Given the description of an element on the screen output the (x, y) to click on. 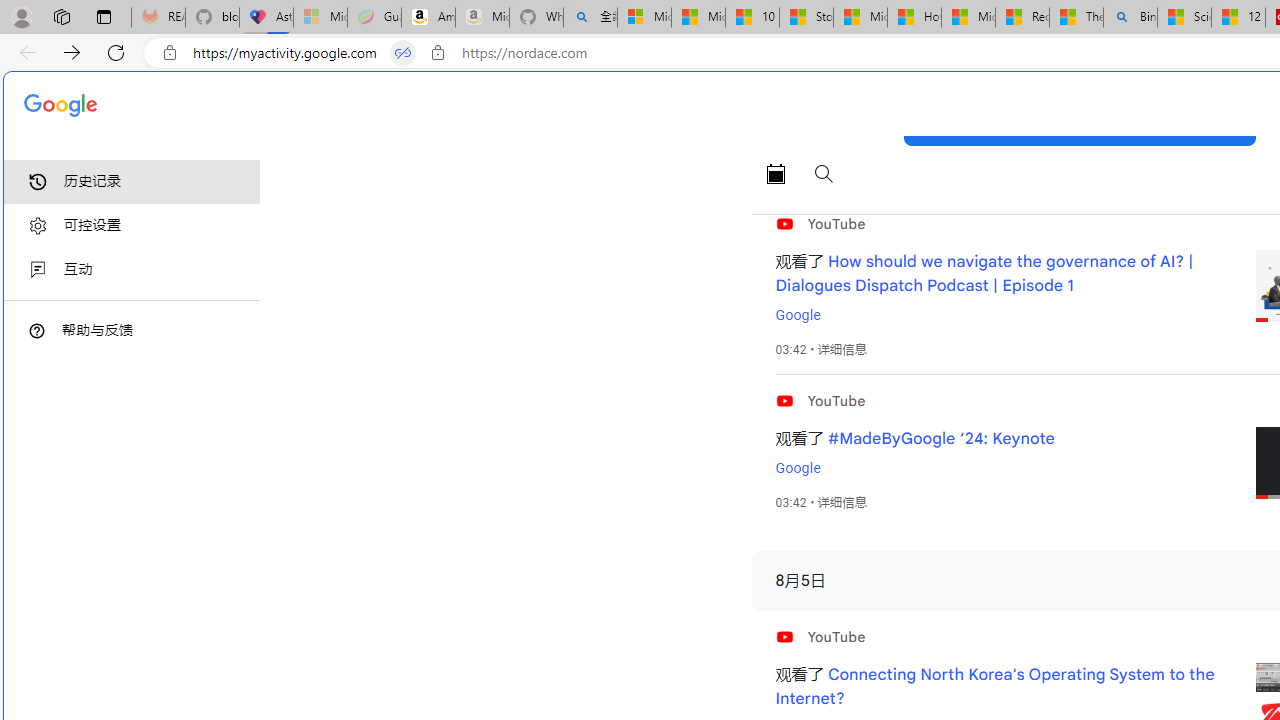
Class: i2GIId (38, 269)
Forward (72, 52)
Class: DTiKkd NMm5M (37, 330)
Recipes - MSN (1022, 17)
Science - MSN (1184, 17)
